Given the description of an element on the screen output the (x, y) to click on. 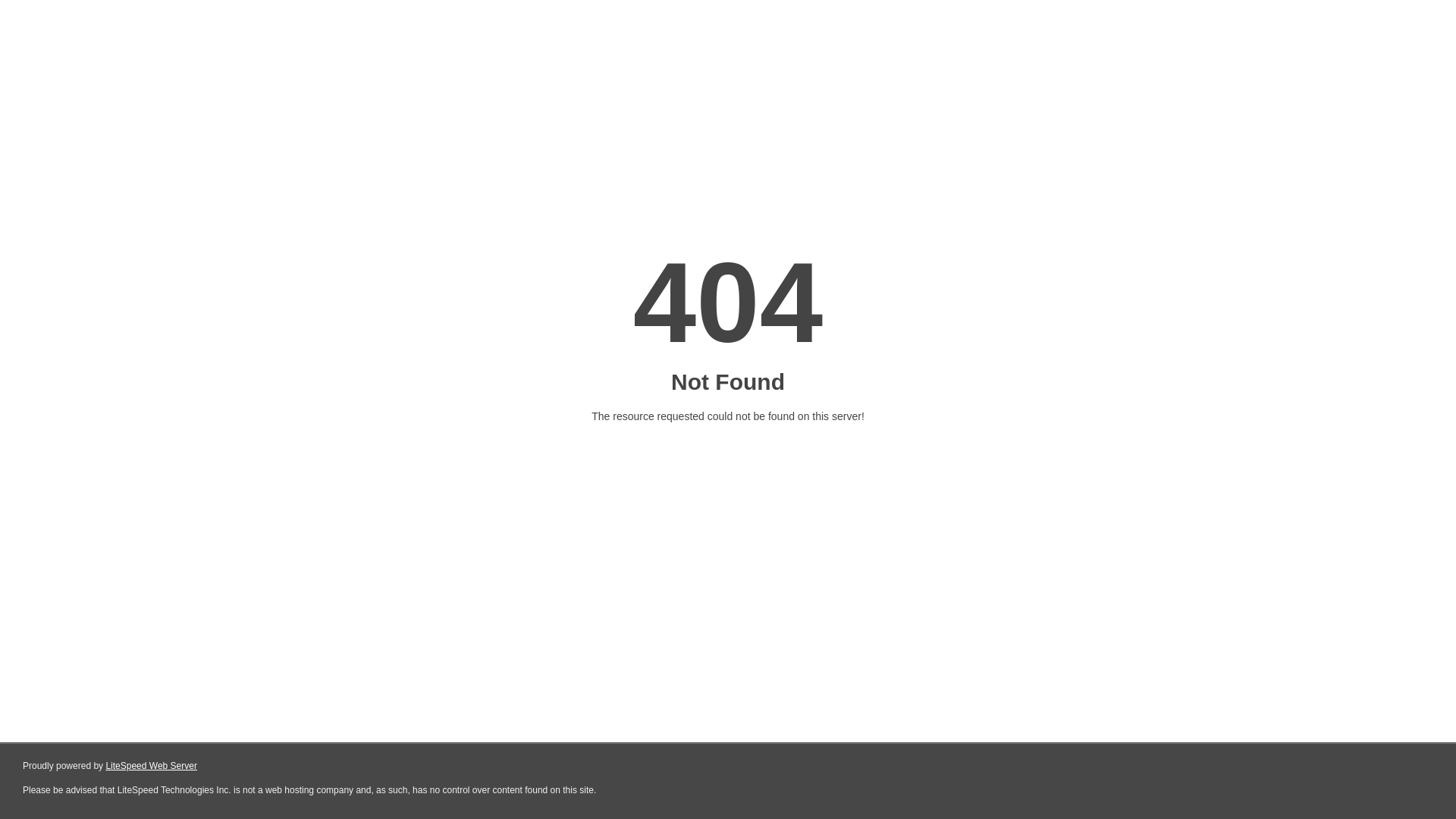
LiteSpeed Web Server Element type: text (151, 765)
